Given the description of an element on the screen output the (x, y) to click on. 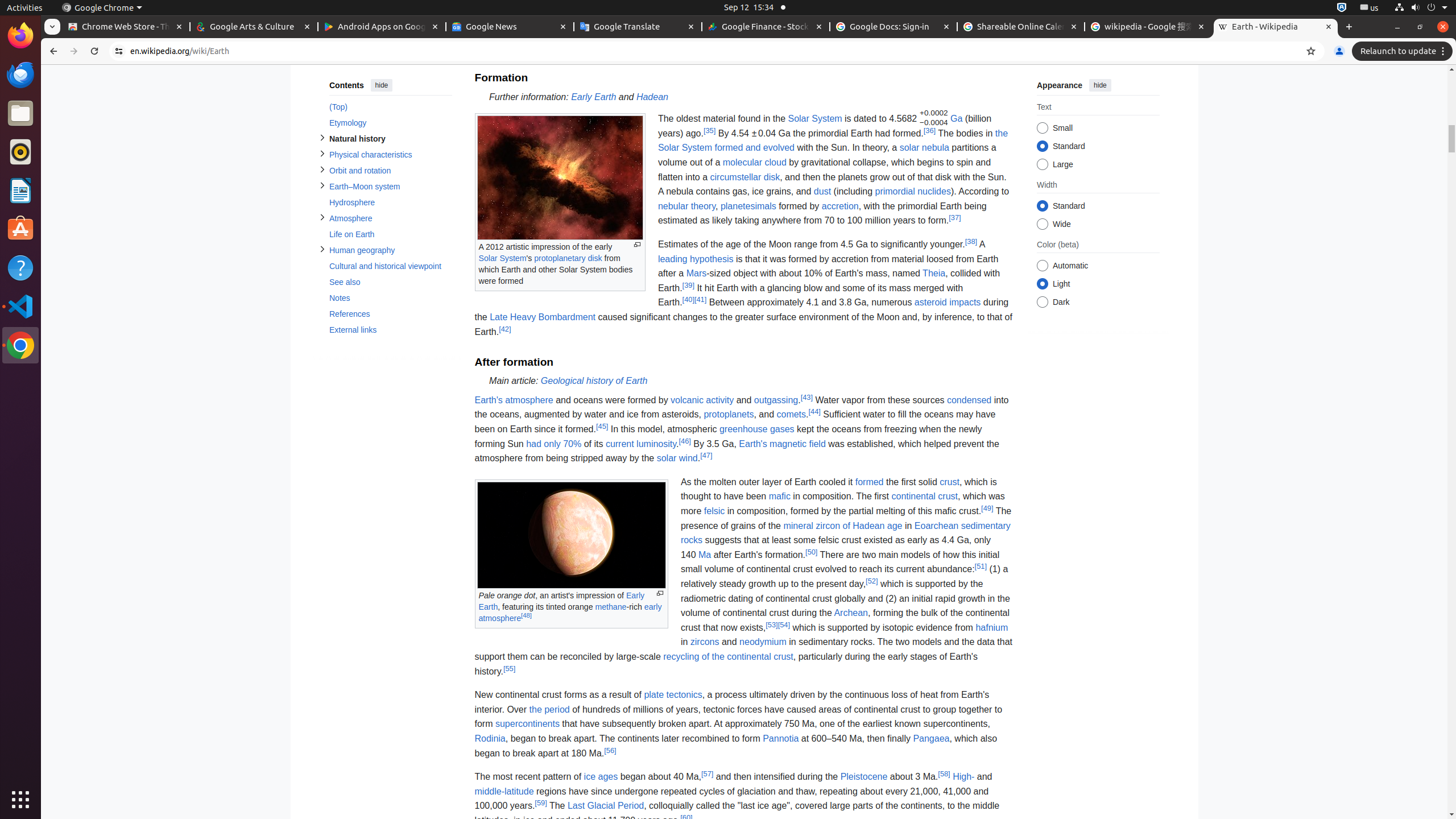
Early Earth Element type: link (593, 96)
Geological history of Earth Element type: link (593, 380)
condensed Element type: link (968, 399)
Android Apps on Google Play - Memory usage - 68.6 MB Element type: page-tab (381, 26)
[40] Element type: link (687, 299)
